Given the description of an element on the screen output the (x, y) to click on. 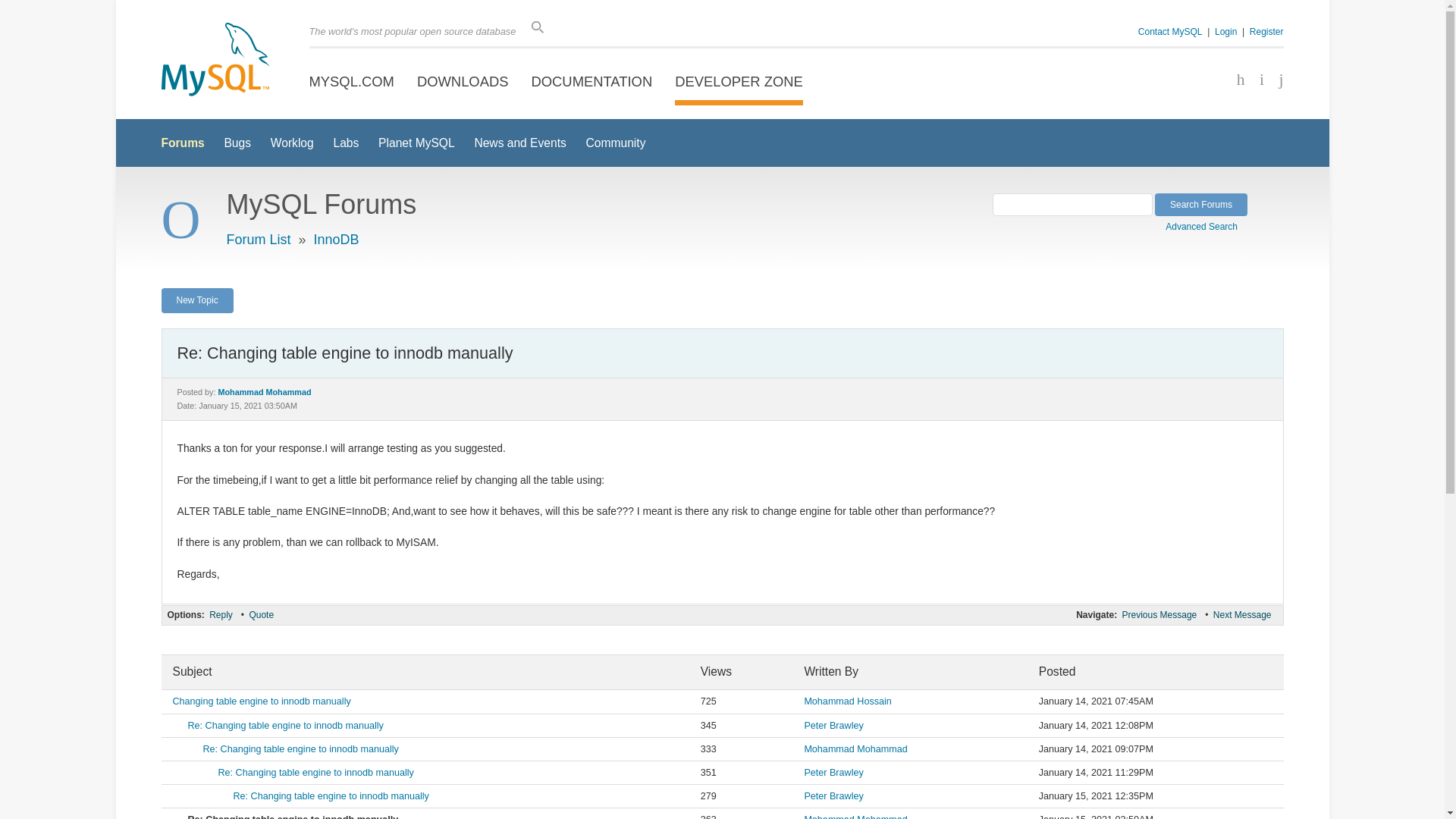
News and Events (520, 142)
Follow us on Twitter (1255, 80)
Forums (181, 142)
Join us on Facebook (1234, 80)
Search Forums (1200, 204)
DOWNLOADS (462, 81)
DOCUMENTATION (591, 81)
Labs (346, 142)
New Topic (196, 300)
Changing table engine to innodb manually (261, 701)
